Given the description of an element on the screen output the (x, y) to click on. 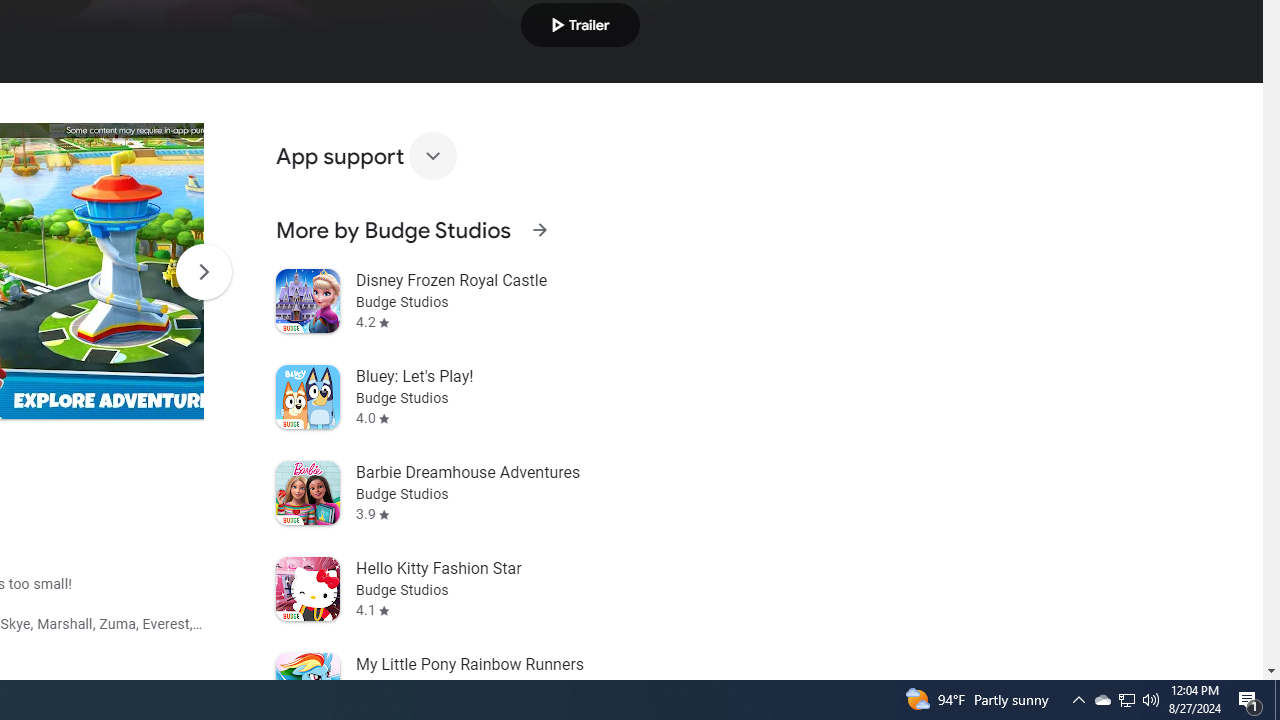
Expand (432, 155)
See more information on More by Budge Studios (539, 229)
Scroll Next (203, 272)
Play trailer (580, 24)
